Given the description of an element on the screen output the (x, y) to click on. 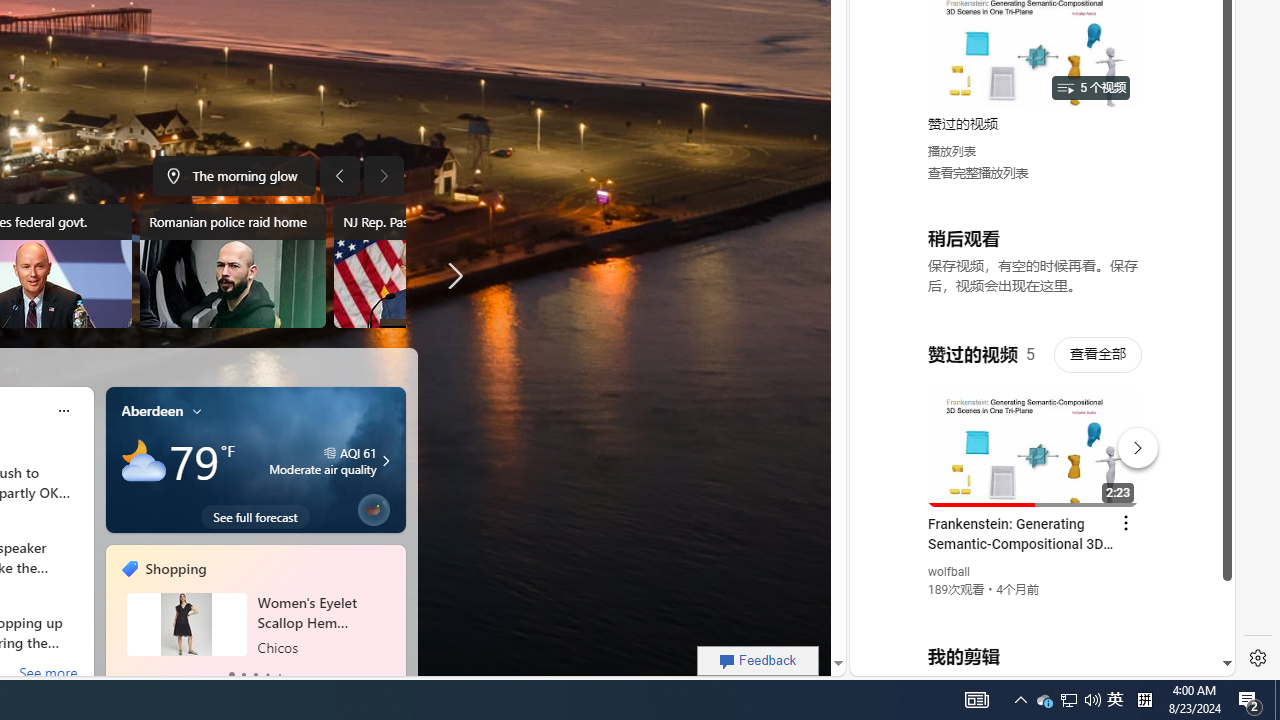
Settings (1258, 658)
Aberdeen (152, 410)
More options (63, 410)
Class: icon-img (196, 410)
More news (450, 275)
Actions for this site (1131, 443)
Shopping (175, 569)
My location (196, 410)
Romanian police raid home (232, 265)
